Given the description of an element on the screen output the (x, y) to click on. 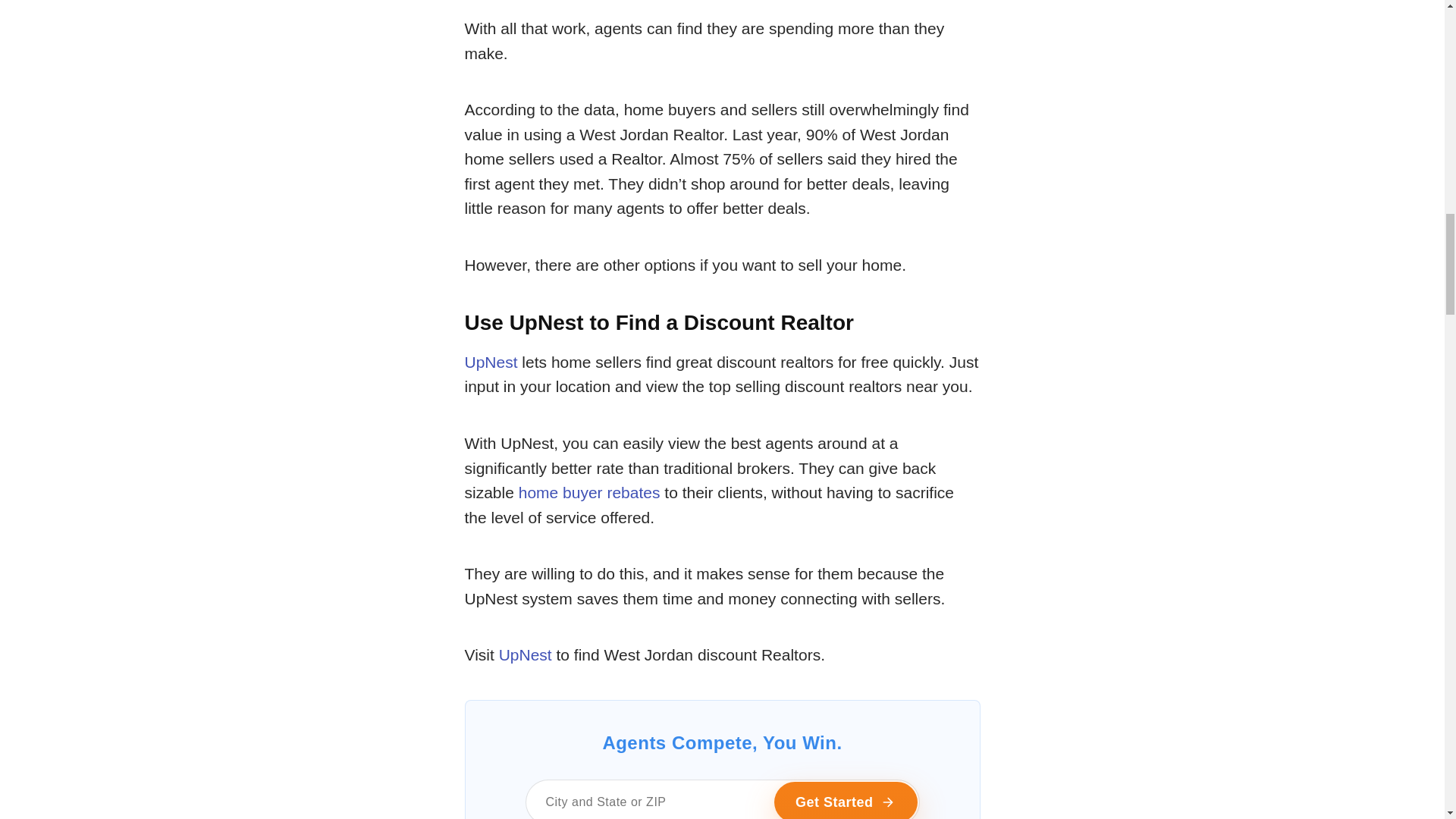
Get Started (845, 800)
Get Started (845, 800)
home buyer rebates (589, 492)
UpNest (525, 654)
UpNest (490, 361)
Enter your city and state or type in your ZIP code (721, 799)
